Given the description of an element on the screen output the (x, y) to click on. 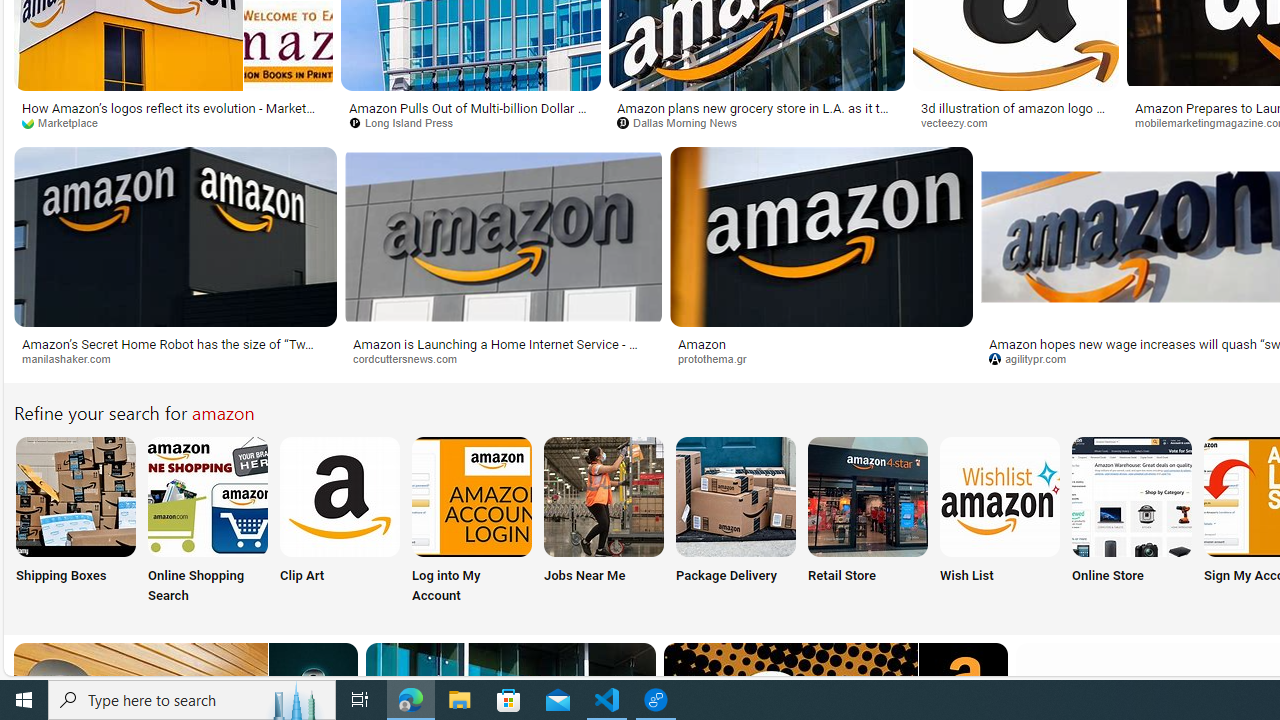
Shipping Boxes (74, 521)
Amazon Retail Store (867, 496)
Package Delivery (735, 521)
Amazon Retail Store Retail Store (867, 521)
vecteezy.com (961, 121)
Amazon Shipping Boxes (75, 496)
Amazon Wish List Wish List (999, 521)
Amazon (821, 343)
Online Store (1131, 521)
protothema.gr (821, 359)
